Given the description of an element on the screen output the (x, y) to click on. 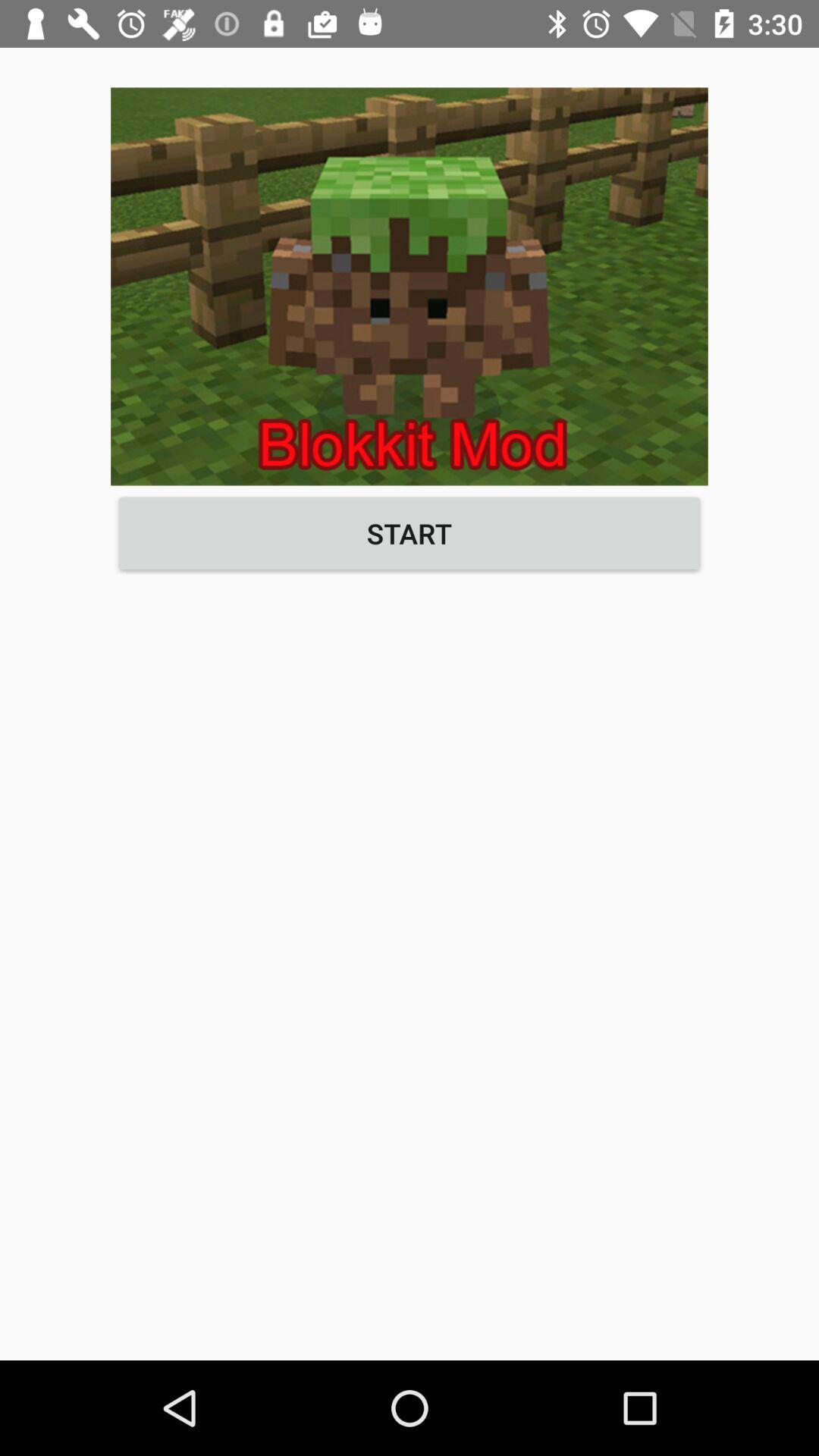
scroll to the start (409, 533)
